Given the description of an element on the screen output the (x, y) to click on. 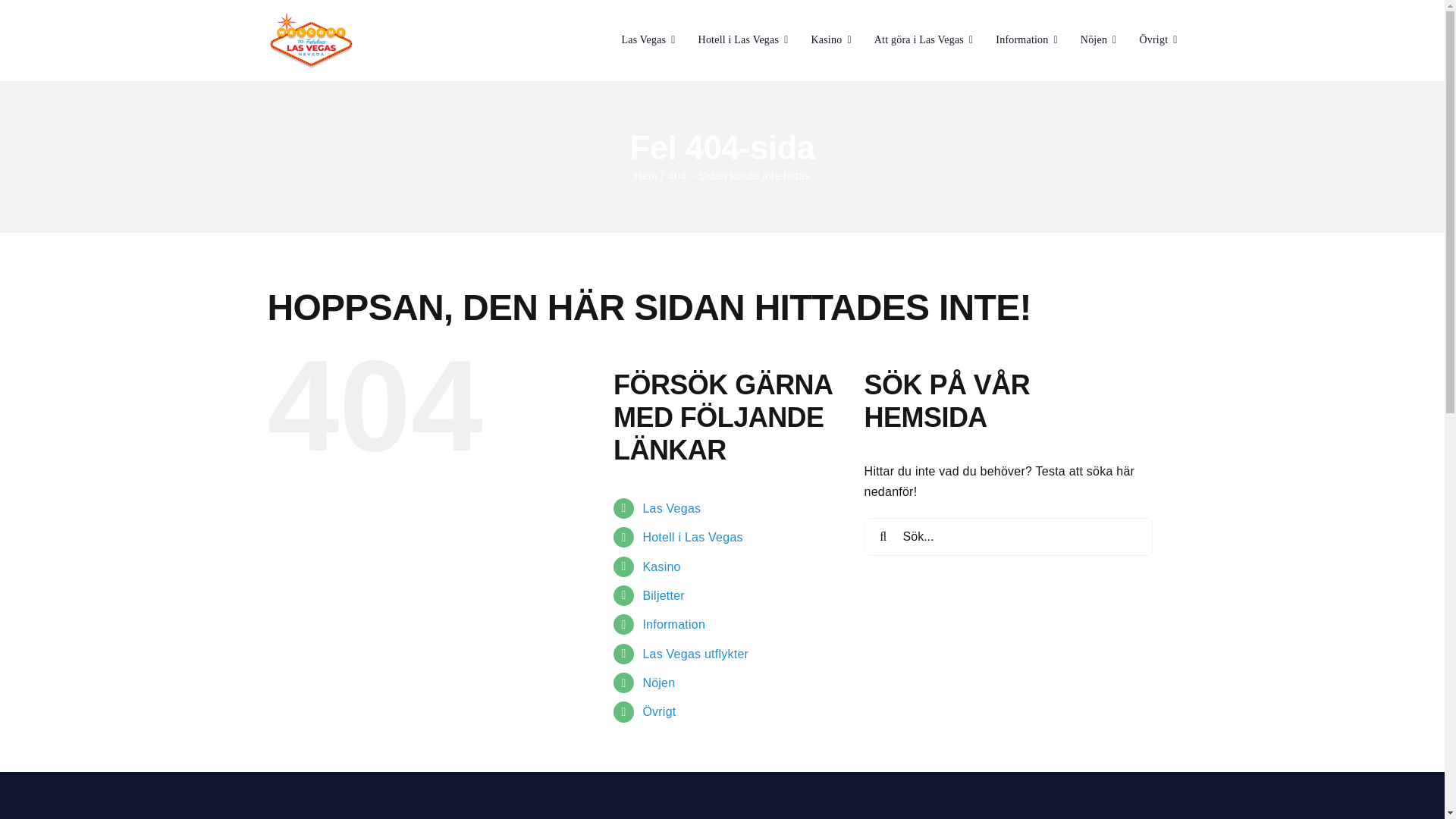
Hotell i Las Vegas (743, 39)
Las Vegas (648, 39)
